Given the description of an element on the screen output the (x, y) to click on. 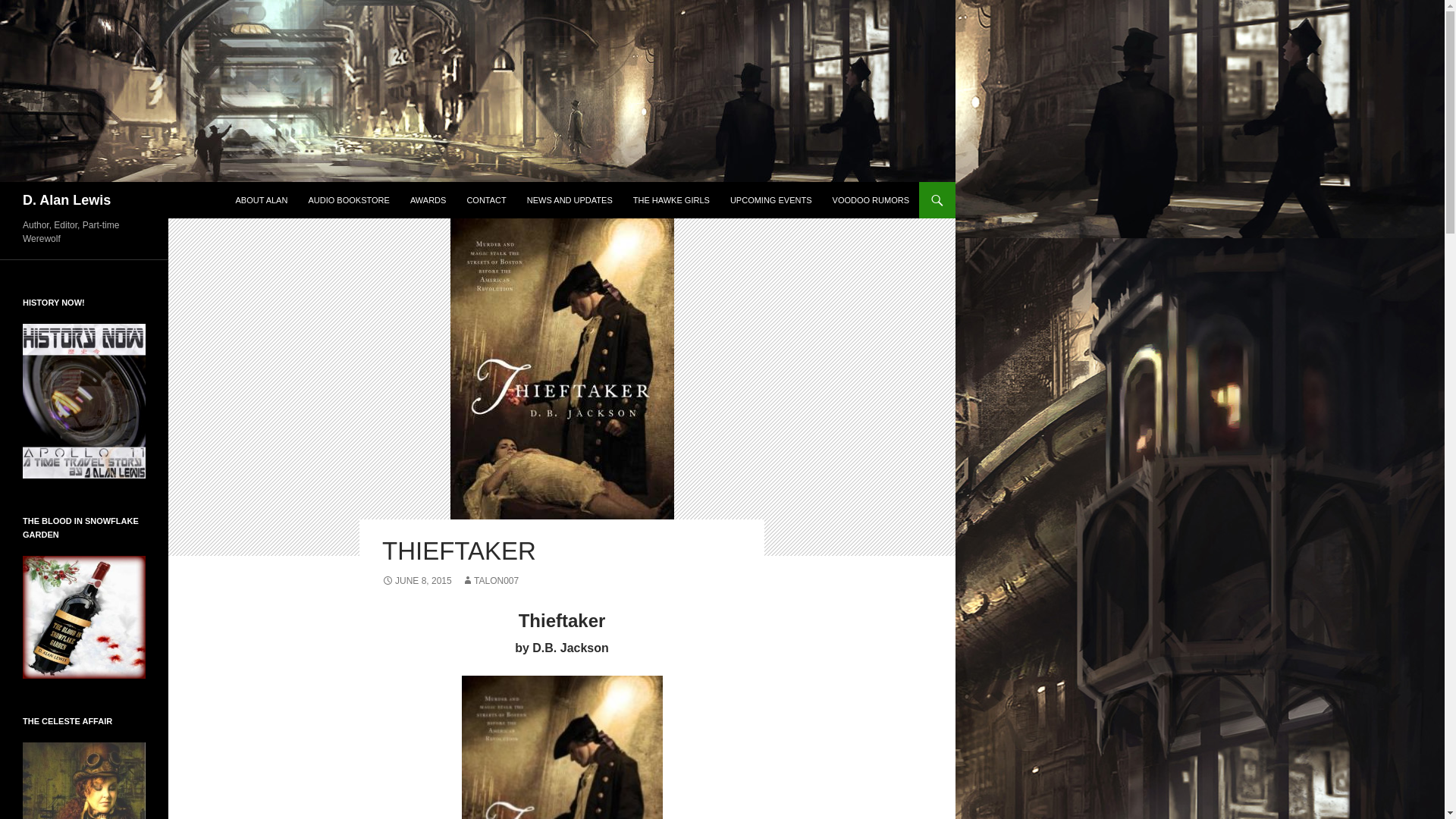
The Celeste Affair (84, 817)
CONTACT (486, 199)
NEWS AND UPDATES (569, 199)
The Blood in Snowflake Garden (84, 615)
VOODOO RUMORS (871, 199)
ABOUT ALAN (261, 199)
AWARDS (427, 199)
History NOW! (84, 399)
UPCOMING EVENTS (770, 199)
TALON007 (489, 580)
AUDIO BOOKSTORE (347, 199)
THE HAWKE GIRLS (671, 199)
D. Alan Lewis (66, 199)
